Given the description of an element on the screen output the (x, y) to click on. 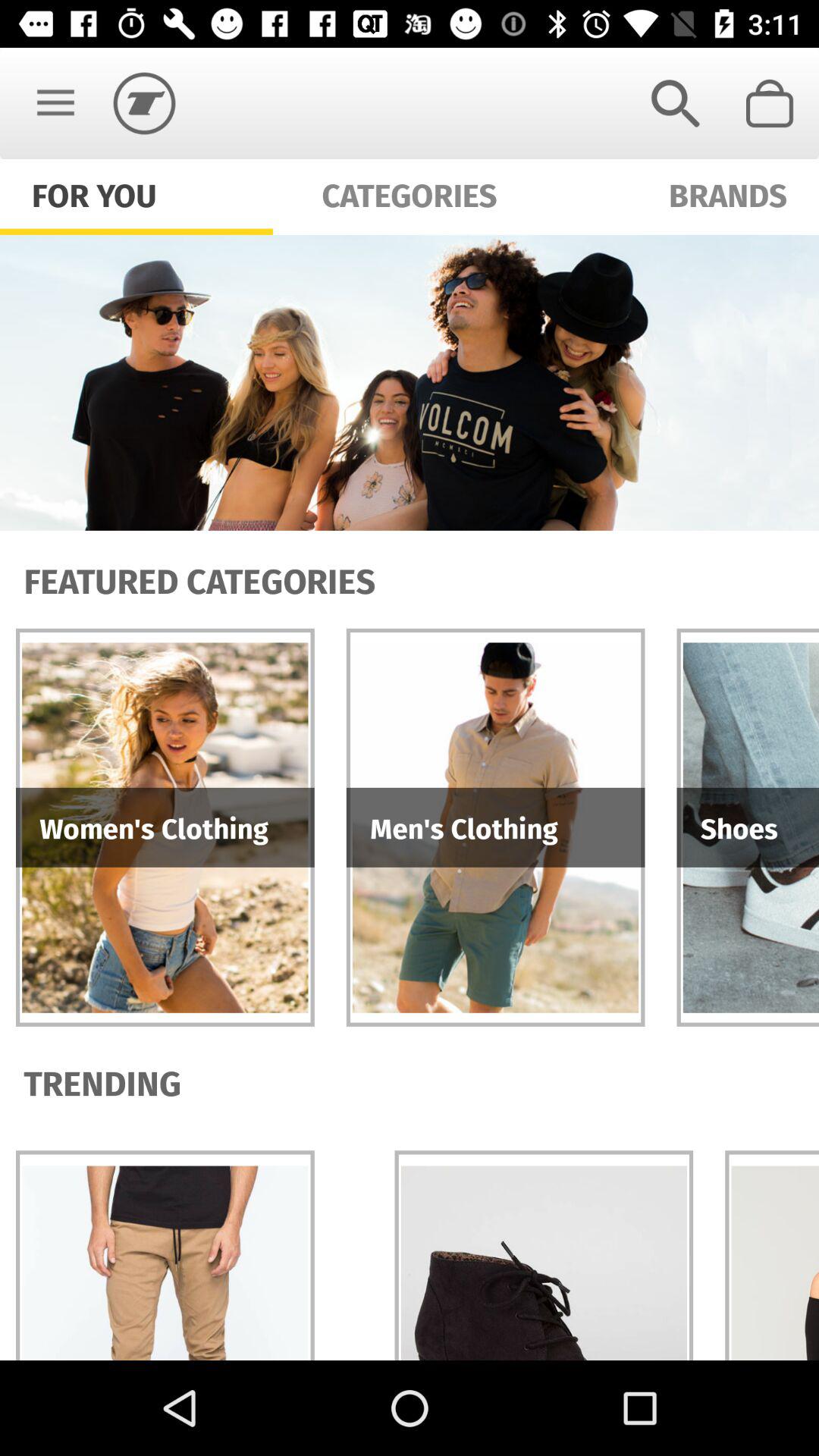
select the icon to the right of the categories icon (675, 103)
